Given the description of an element on the screen output the (x, y) to click on. 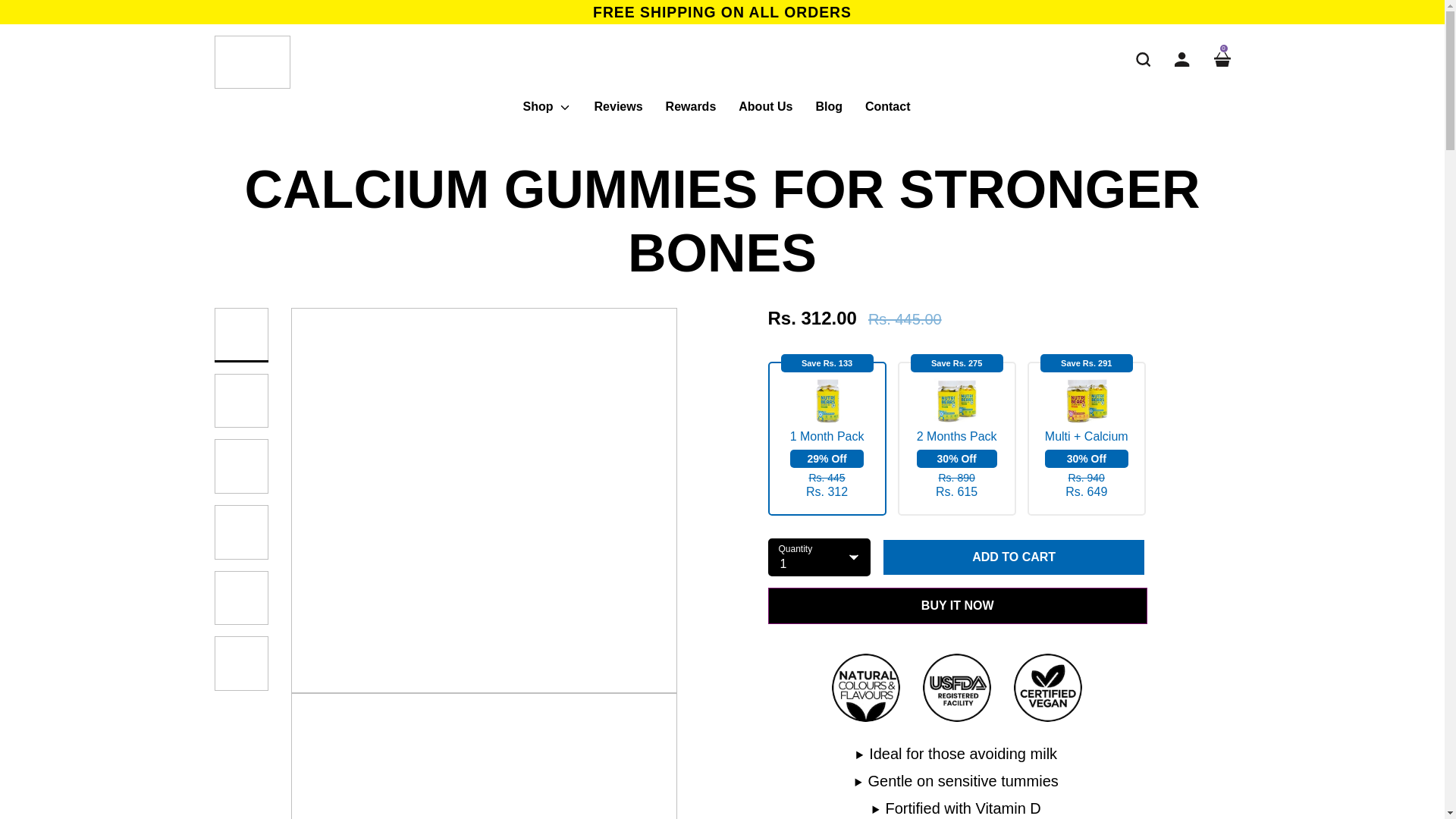
Rewards (690, 112)
Blog (828, 112)
Reviews (618, 112)
Shop (546, 112)
About Us (764, 112)
Contact (887, 112)
